Given the description of an element on the screen output the (x, y) to click on. 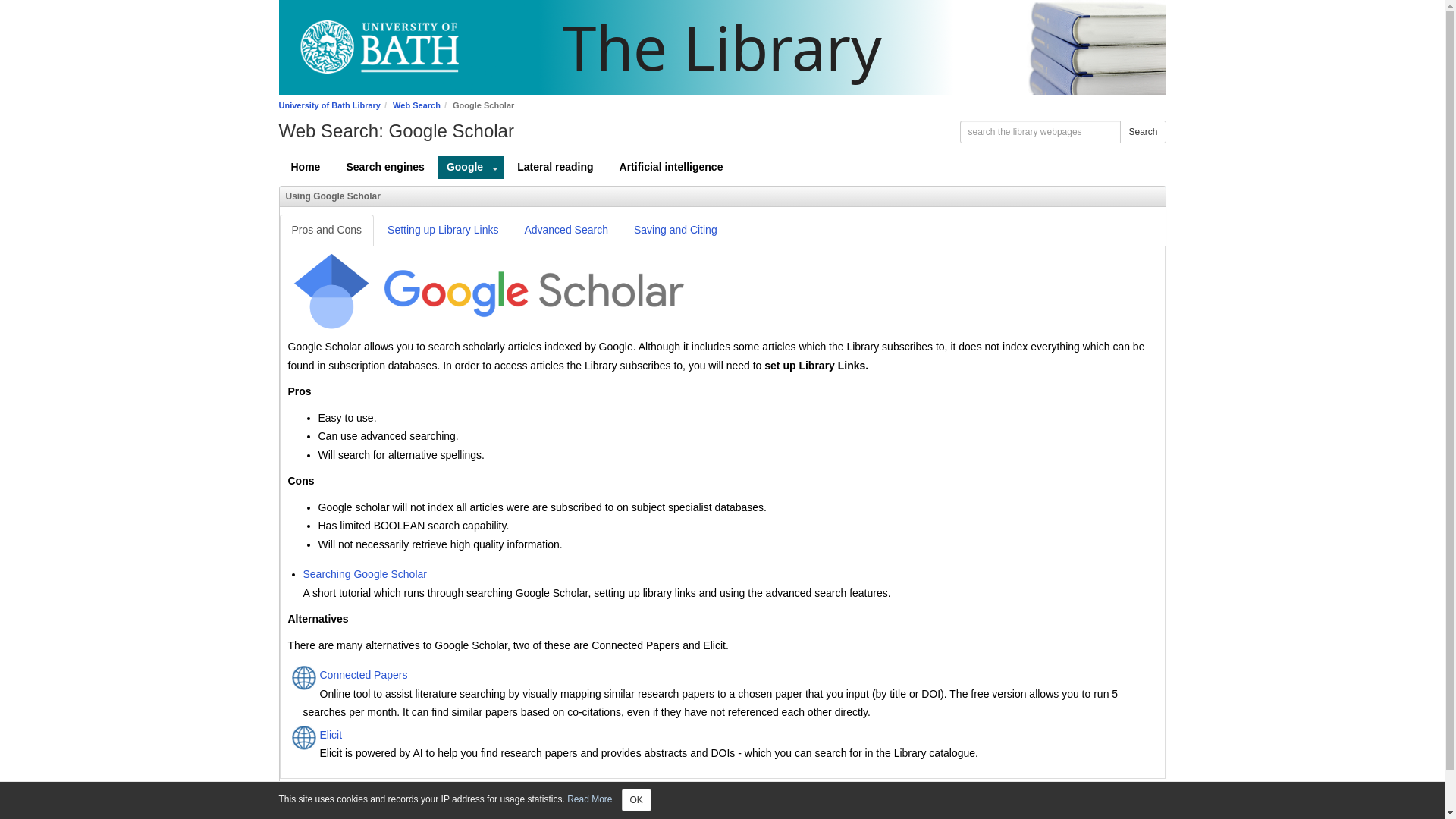
Search engines (384, 167)
Saving and Citing (675, 230)
Setting up Library Links (443, 230)
Elicit (746, 735)
Advanced Search (566, 230)
University of Bath Homepage (373, 47)
Web Search (417, 104)
University of Bath Library (329, 104)
Lateral reading (555, 167)
Pros and Cons (326, 230)
Connected Papers (746, 676)
Read More (589, 798)
Artificial intelligence (671, 167)
OK (635, 799)
Google (462, 167)
